Given the description of an element on the screen output the (x, y) to click on. 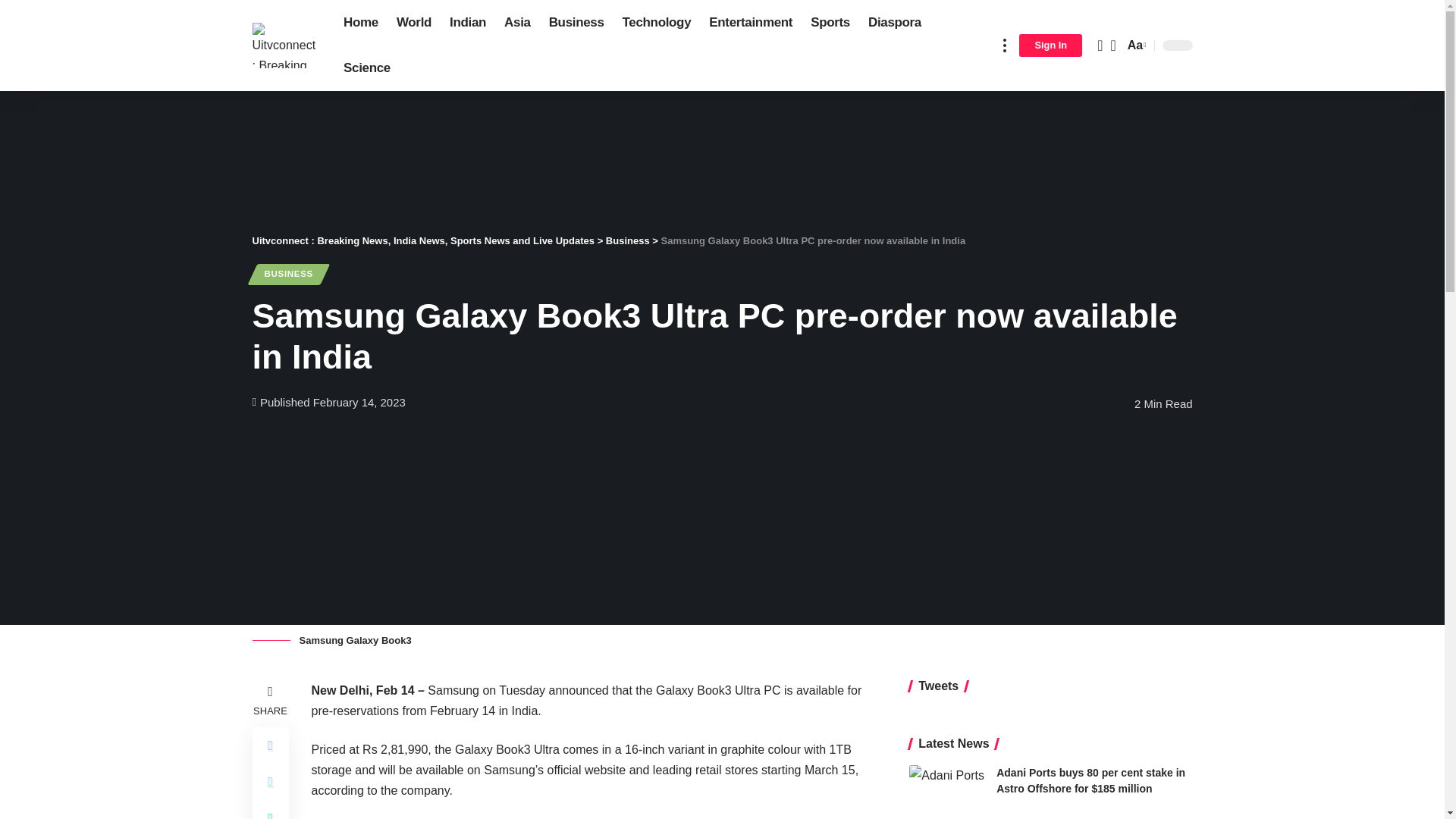
Business (576, 22)
Sports (830, 22)
Diaspora (894, 22)
Entertainment (751, 22)
Technology (656, 22)
Go to the Business Category archives. (627, 240)
Asia (517, 22)
Indian (468, 22)
